Given the description of an element on the screen output the (x, y) to click on. 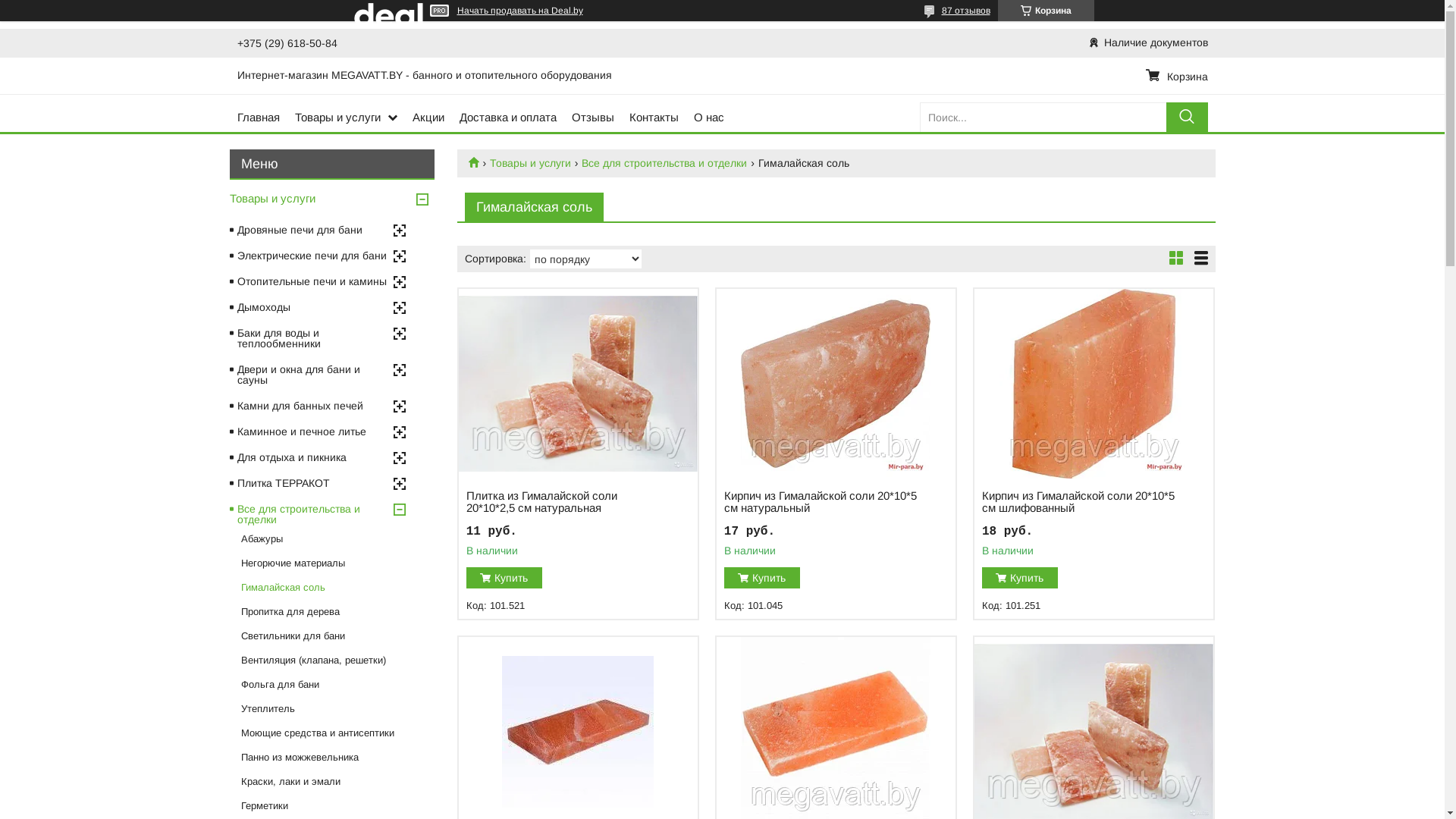
Megavatt.by Element type: hover (478, 161)
